Given the description of an element on the screen output the (x, y) to click on. 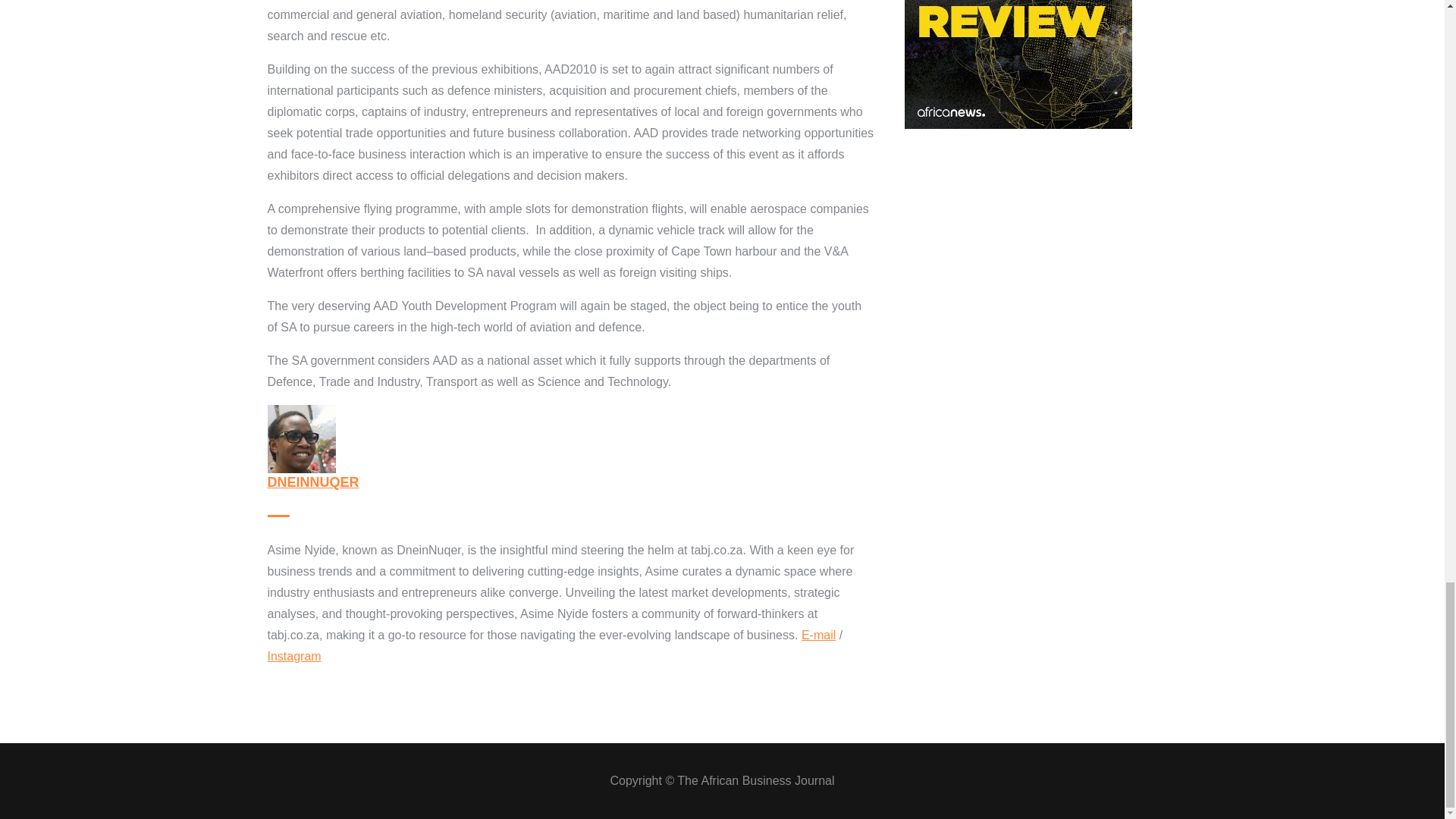
Instagram (293, 656)
E-mail (818, 634)
DNEINNUQER (312, 482)
